Given the description of an element on the screen output the (x, y) to click on. 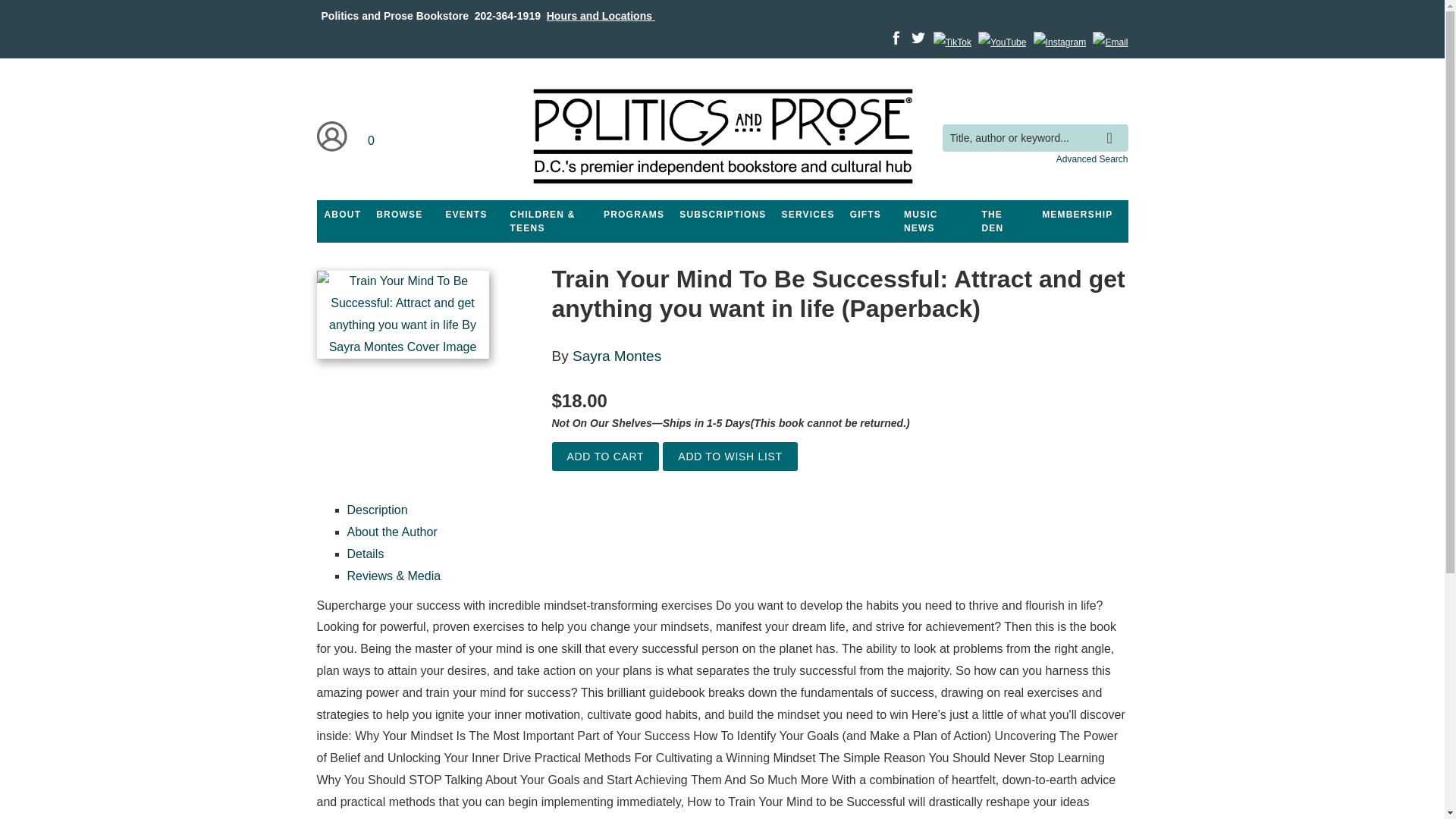
Home (721, 137)
SUBSCRIPTIONS (722, 214)
Title, author or keyword... (1034, 138)
Hours and Locations  (601, 15)
Browse our shelves (398, 214)
Add to Cart (605, 456)
Children and Teens Department (548, 220)
See our event calendar (465, 214)
search (1112, 126)
EVENTS (465, 214)
